Given the description of an element on the screen output the (x, y) to click on. 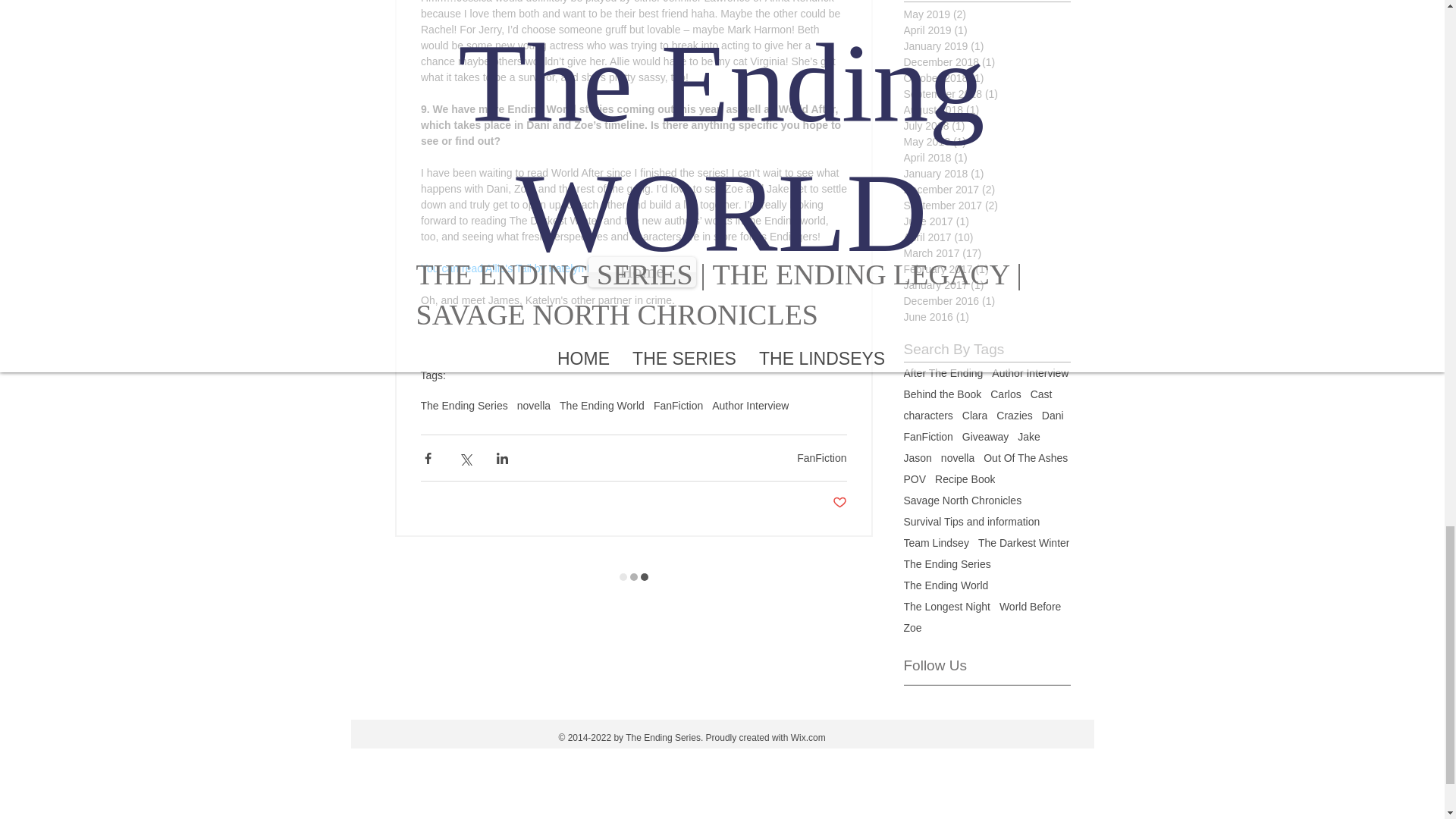
FanFiction (820, 458)
You can read Allie's Tail by Katelyn Bobbitt HERE (535, 268)
The Ending Series (463, 405)
Post not marked as liked (839, 503)
FanFiction (678, 405)
Author Interview (750, 405)
novella (533, 405)
The Ending World (602, 405)
Home (641, 272)
